Given the description of an element on the screen output the (x, y) to click on. 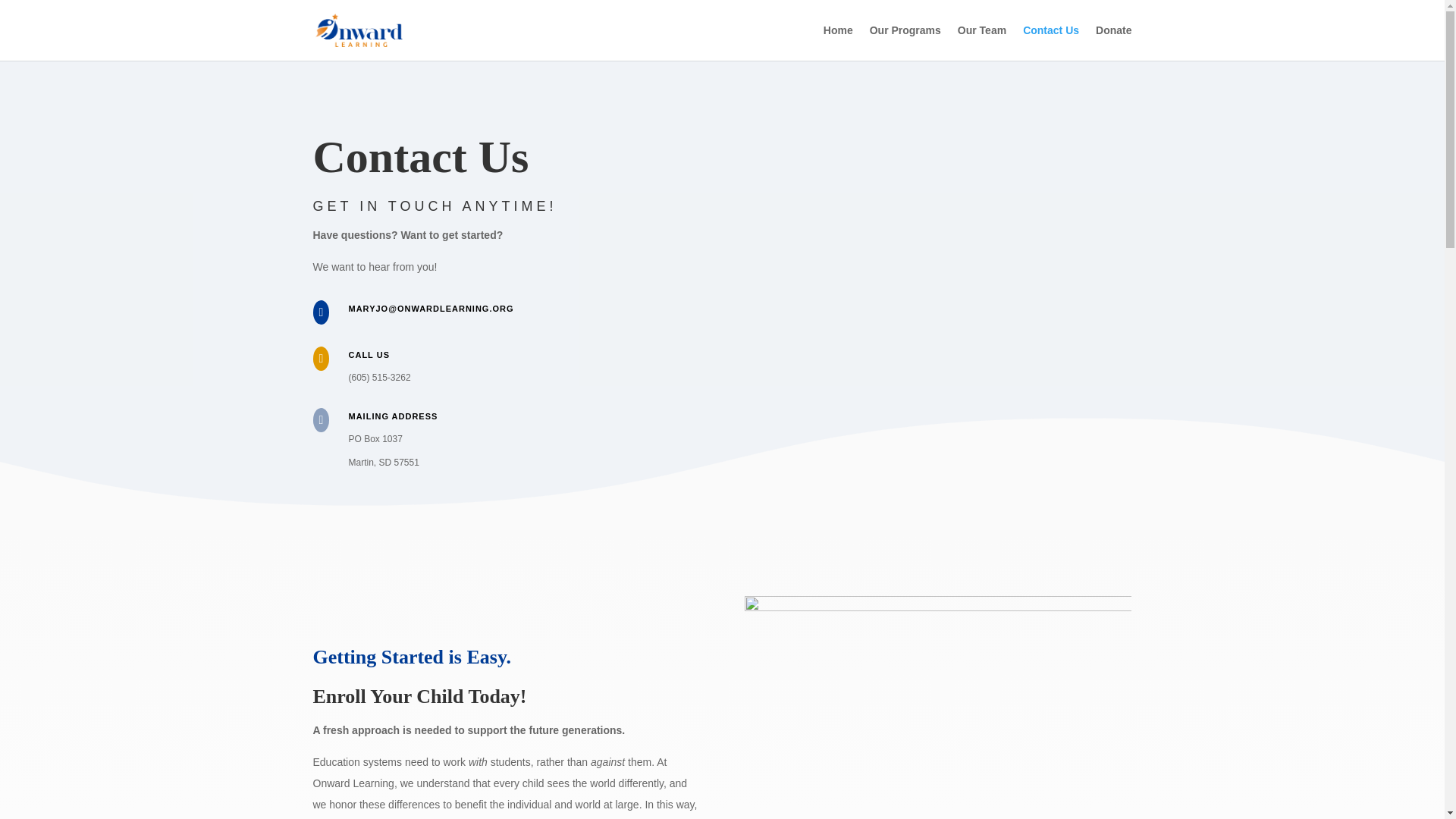
Our Programs (904, 42)
Contact Us (1050, 42)
Our Team (982, 42)
Donate (1113, 42)
